Given the description of an element on the screen output the (x, y) to click on. 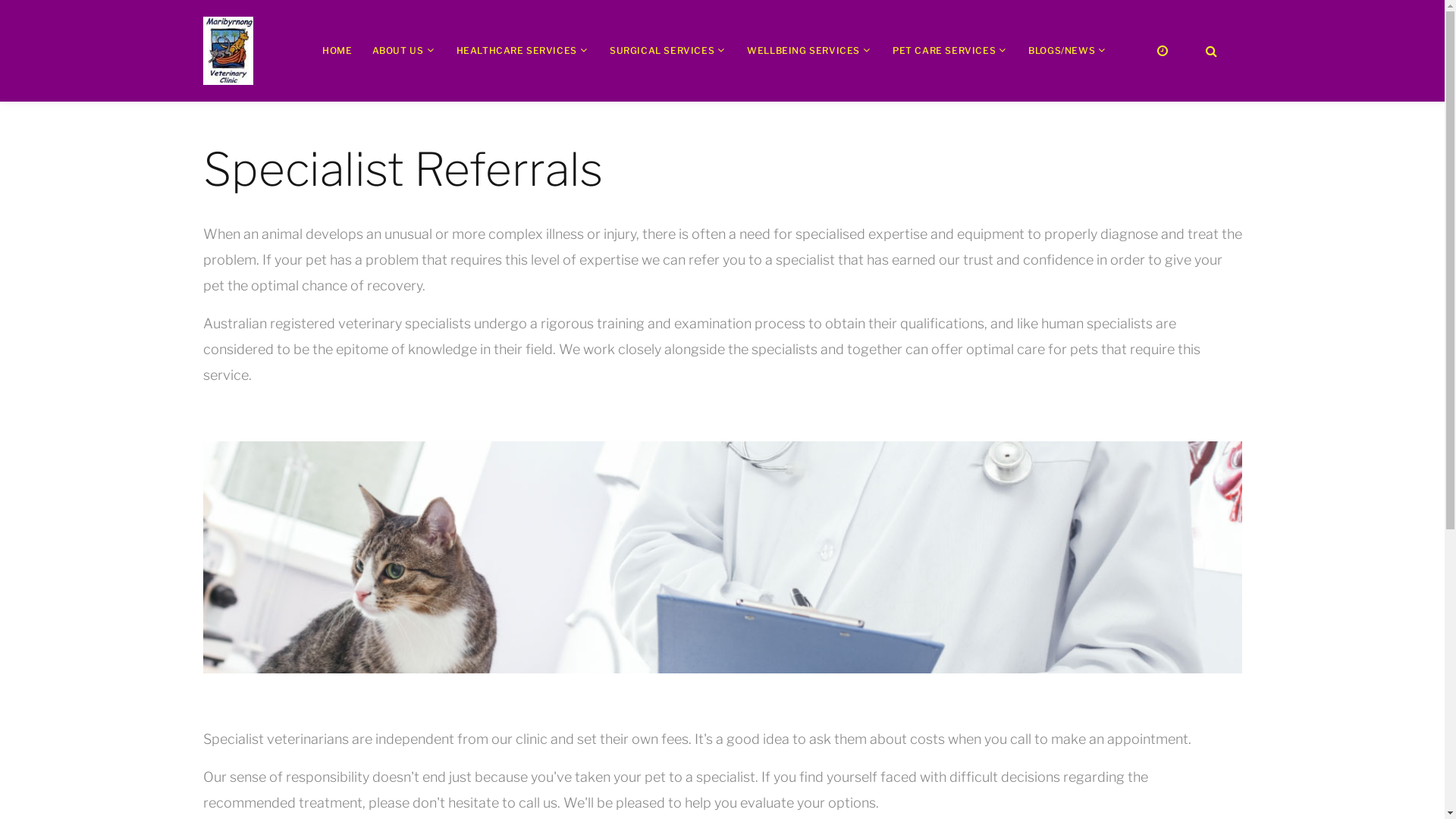
ABOUT US Element type: text (397, 50)
SURGICAL SERVICES Element type: text (661, 50)
HEALTHCARE SERVICES Element type: text (516, 50)
WELLBEING SERVICES Element type: text (802, 50)
HOME Element type: text (336, 50)
PET CARE SERVICES Element type: text (943, 50)
BLOGS/NEWS Element type: text (1061, 50)
